Given the description of an element on the screen output the (x, y) to click on. 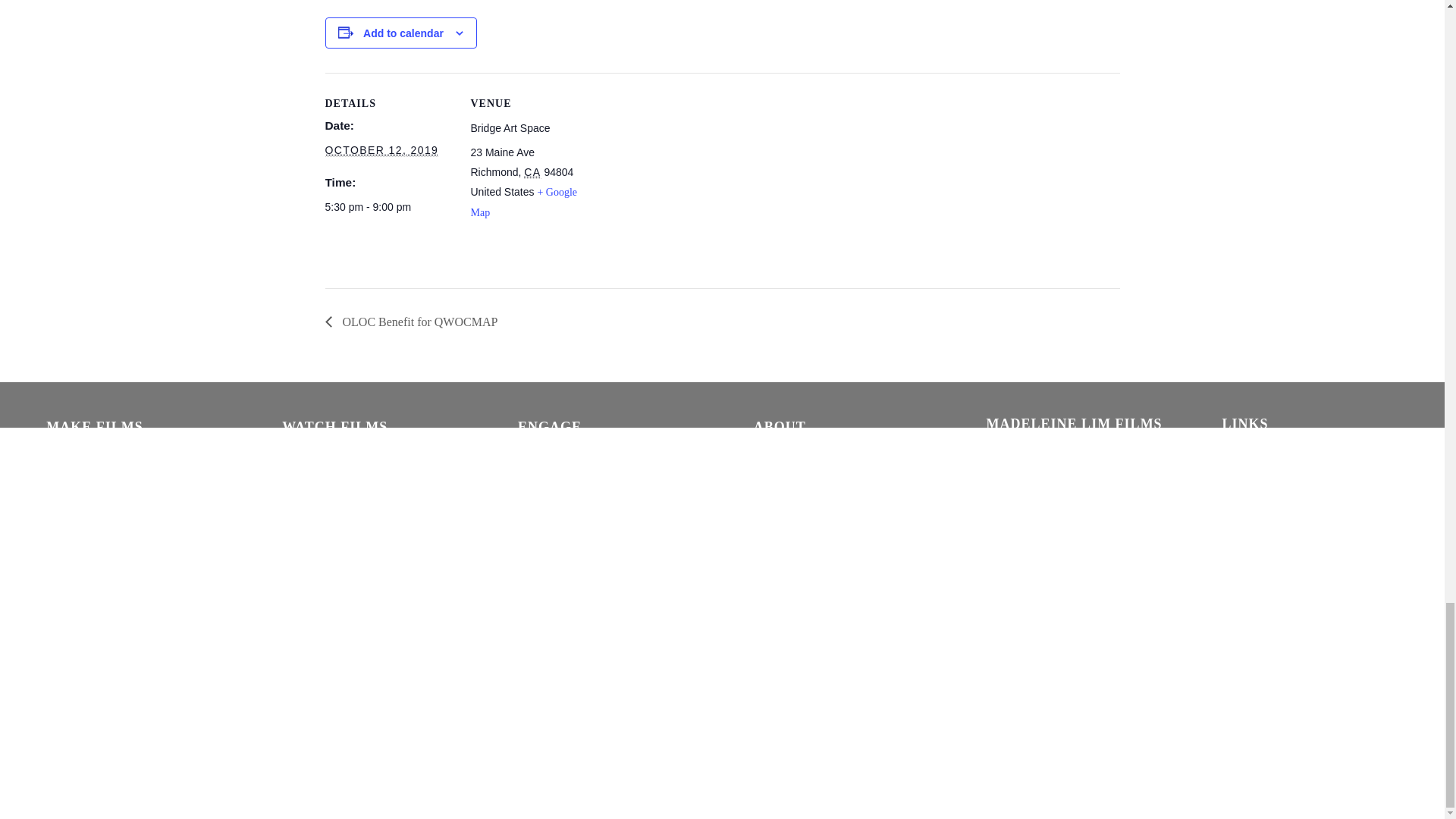
2019-10-12 (387, 206)
California (532, 172)
Click to view a Google Map (523, 202)
2019-10-12 (381, 150)
